Given the description of an element on the screen output the (x, y) to click on. 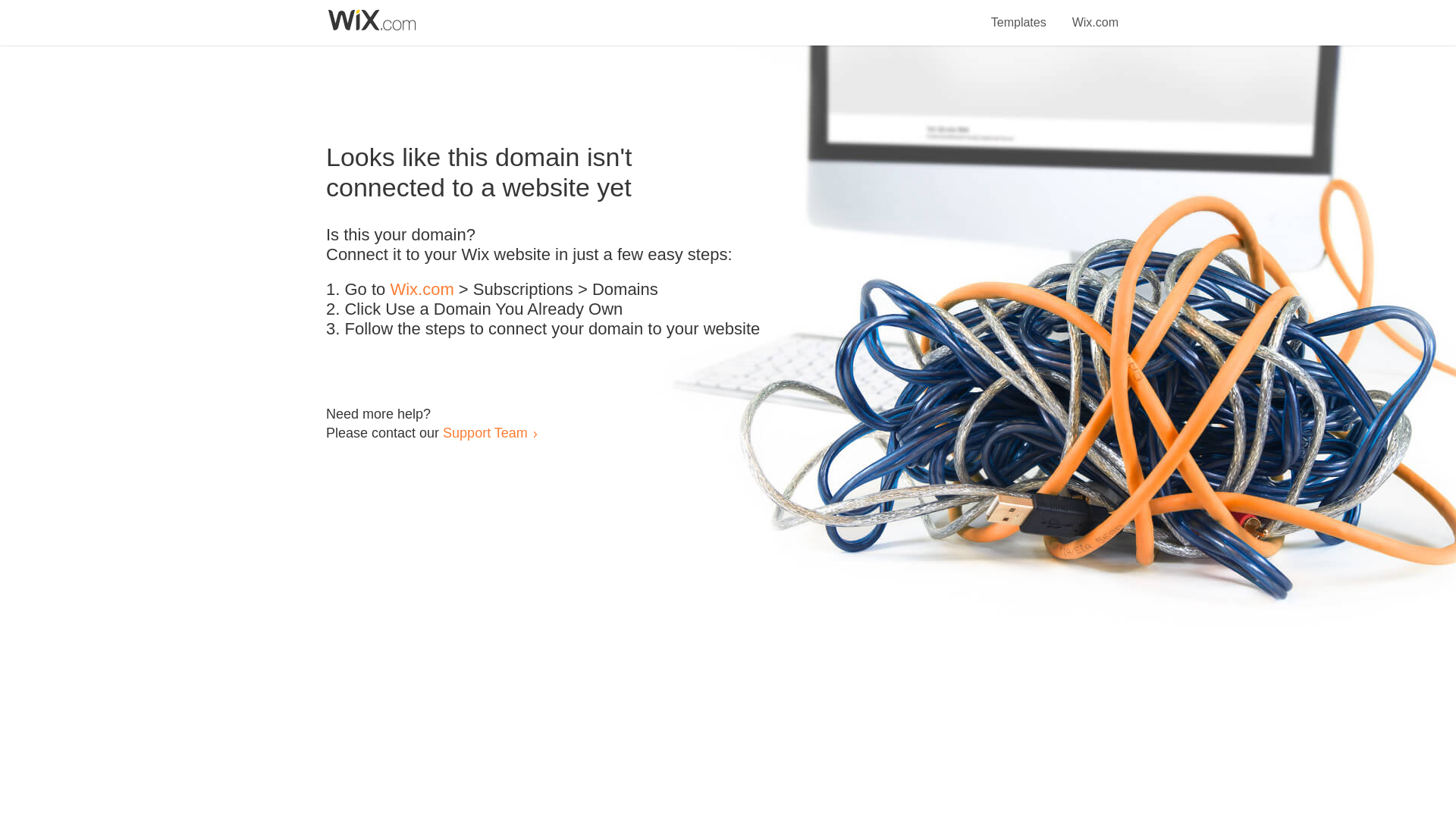
Templates (1018, 14)
Wix.com (421, 289)
Wix.com (1095, 14)
Support Team (484, 432)
